Given the description of an element on the screen output the (x, y) to click on. 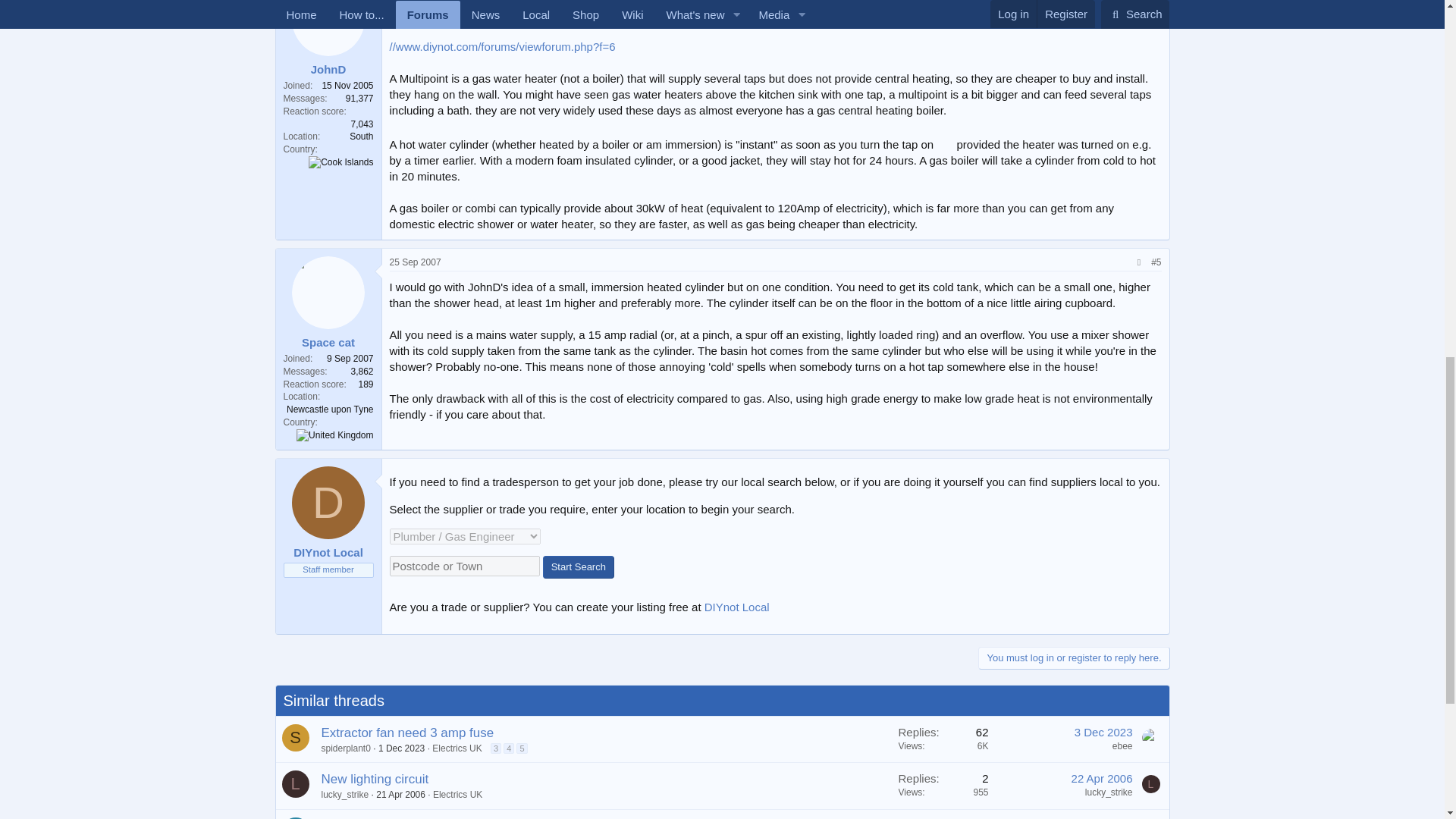
25 Sep 2007 at 5:03 PM (415, 262)
First message reaction score: 0 (942, 739)
Cook Islands (340, 162)
United Kingdom (334, 435)
1 Dec 2023 at 11:41 AM (401, 747)
